Given the description of an element on the screen output the (x, y) to click on. 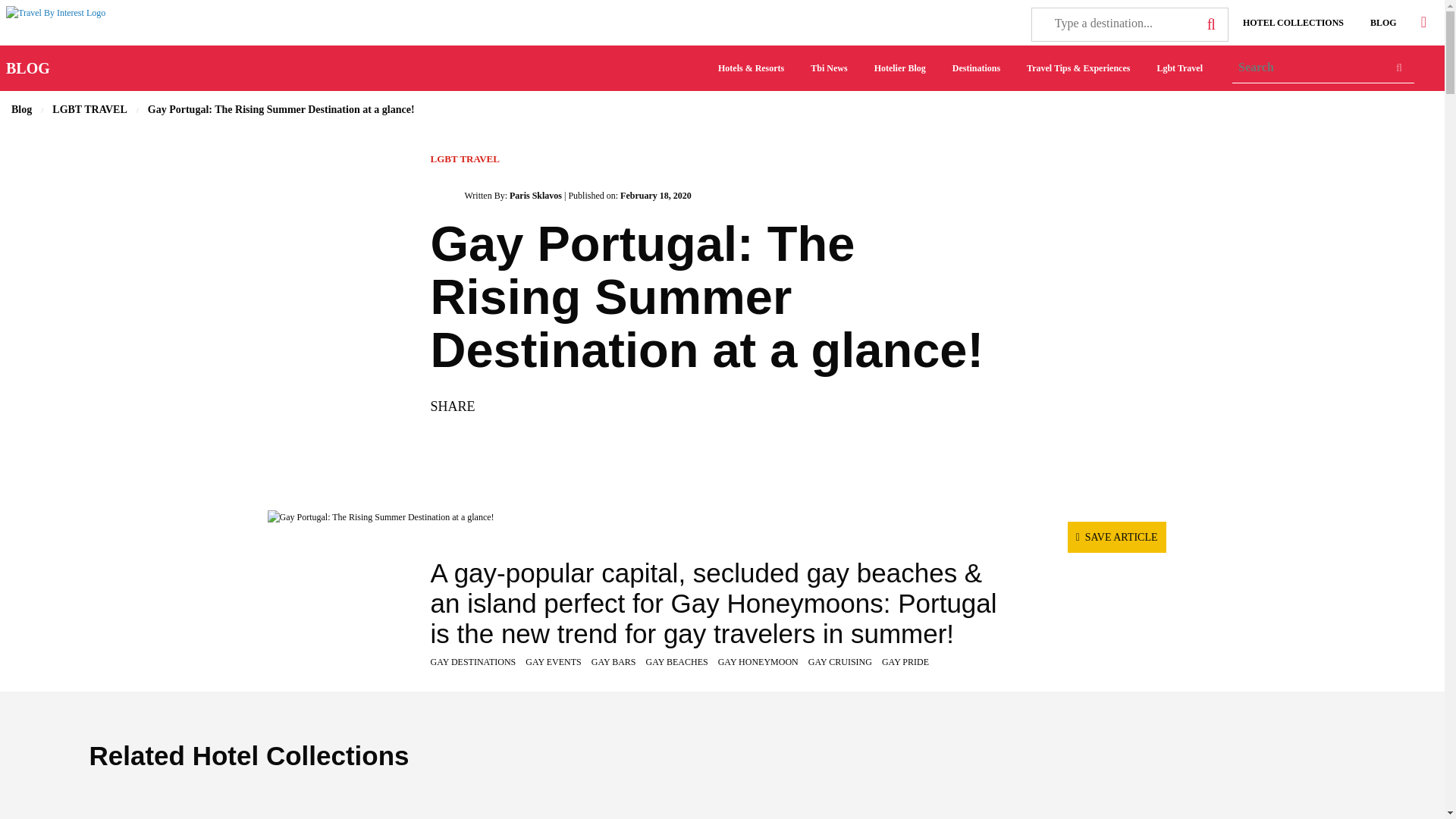
Lgbt Travel (1179, 68)
Tbi News (828, 68)
Hotelier Blog (899, 68)
BLOG (27, 67)
Gay Portugal: The Rising Summer Destination at a glance! (721, 517)
BLOG (1383, 22)
HOTEL COLLECTIONS (1292, 22)
Destinations (975, 68)
